Given the description of an element on the screen output the (x, y) to click on. 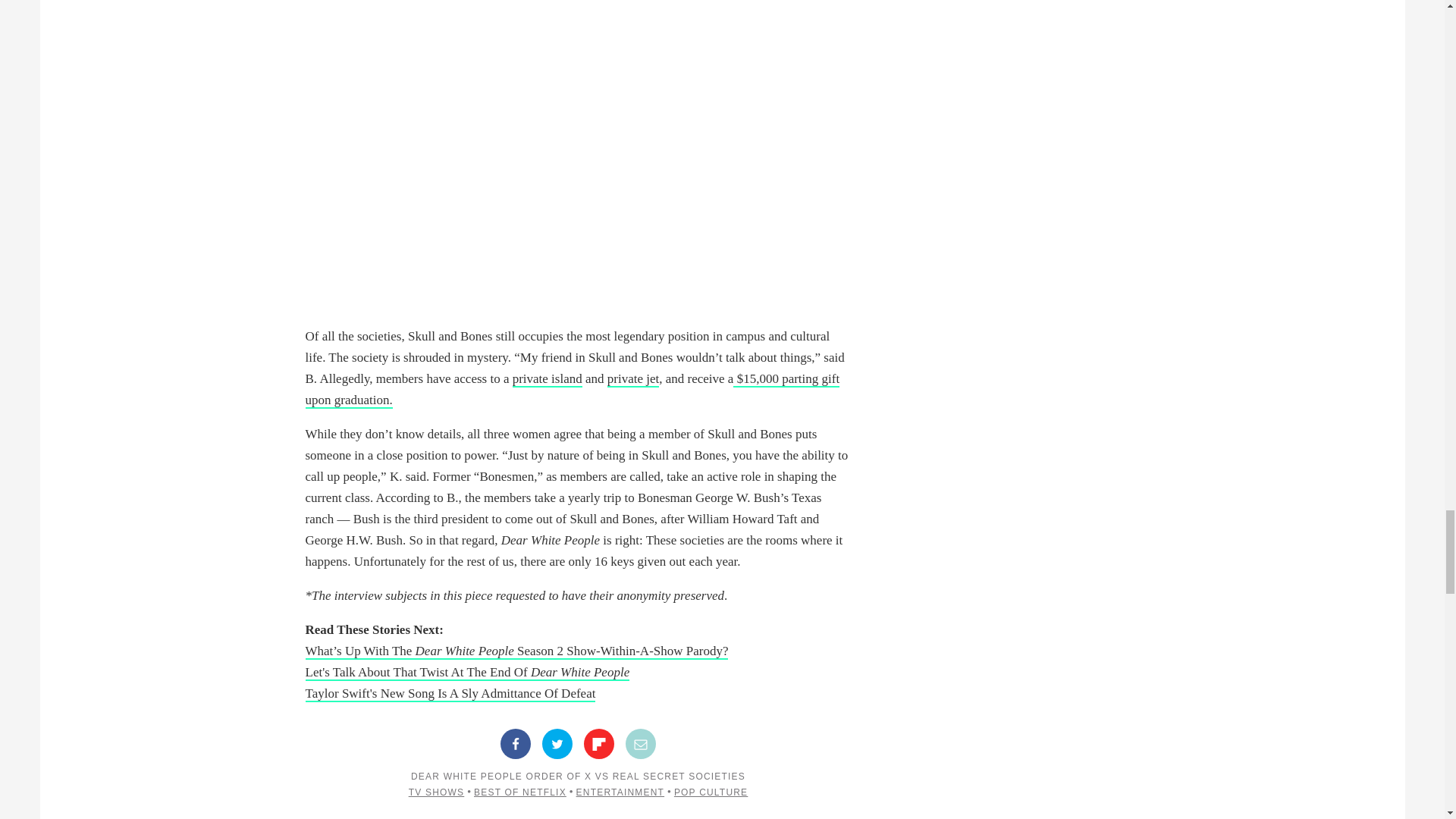
Share on Flipboard (598, 743)
private island (547, 379)
private jet (633, 379)
Taylor Swift's New Song Is A Sly Admittance Of Defeat (449, 693)
Share by Email (641, 743)
Share on Twitter (556, 743)
Let's Talk About That Twist At The End Of Dear White People (466, 672)
